Given the description of an element on the screen output the (x, y) to click on. 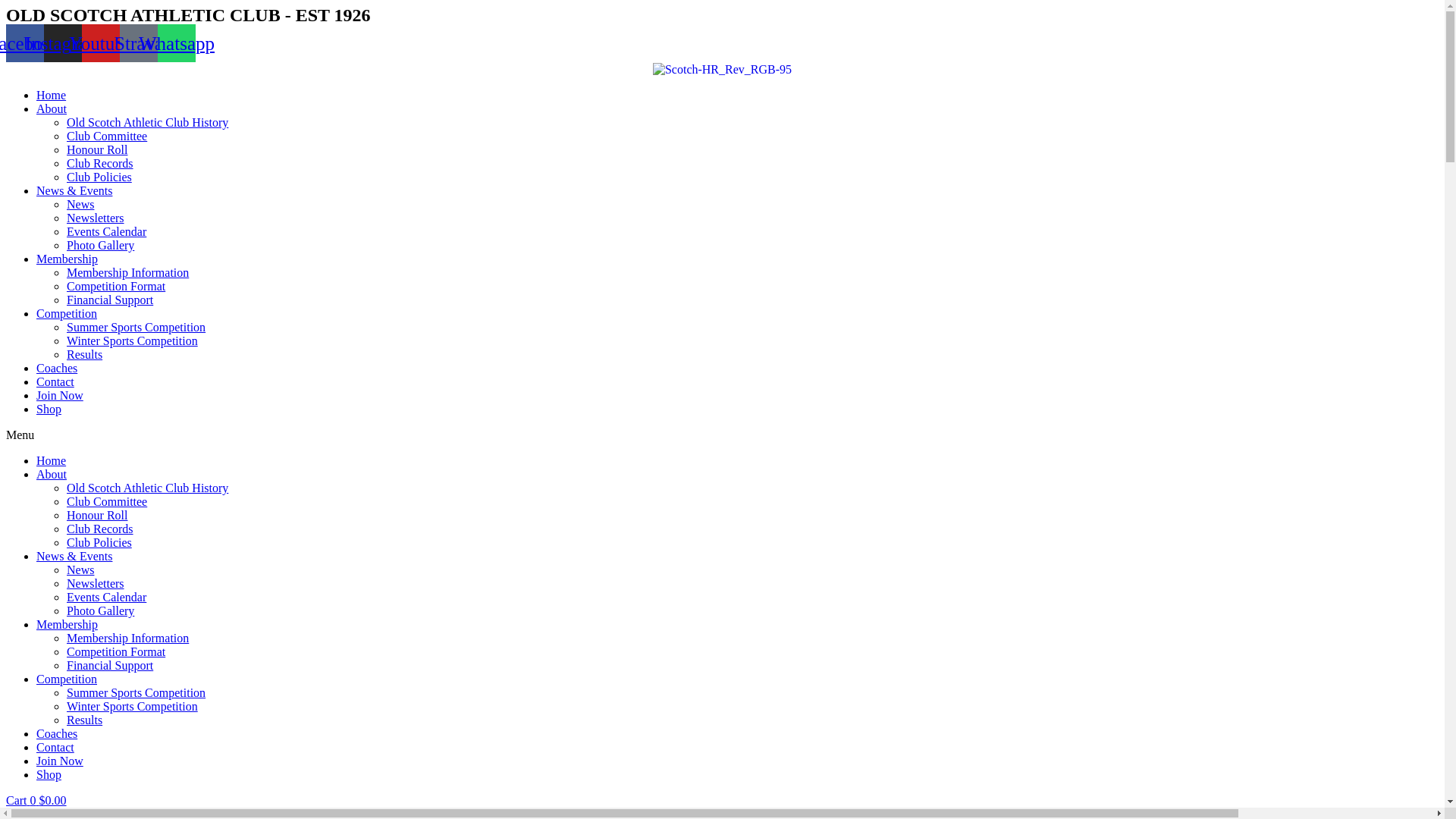
Coaches Element type: text (56, 733)
Photo Gallery Element type: text (100, 610)
Honour Roll Element type: text (96, 514)
Club Records Element type: text (99, 162)
Newsletters Element type: text (95, 217)
Summer Sports Competition Element type: text (135, 692)
Whatsapp Element type: text (176, 43)
Home Element type: text (50, 460)
News Element type: text (80, 569)
Strava Element type: text (138, 43)
Club Policies Element type: text (98, 176)
Skip to content Element type: text (5, 5)
Join Now Element type: text (59, 760)
Home Element type: text (50, 94)
Summer Sports Competition Element type: text (135, 326)
Contact Element type: text (55, 746)
Youtube Element type: text (100, 43)
Facebook Element type: text (24, 43)
Shop Element type: text (48, 774)
Photo Gallery Element type: text (100, 244)
Membership Element type: text (66, 258)
Club Committee Element type: text (106, 135)
About Element type: text (51, 108)
News & Events Element type: text (74, 555)
Club Committee Element type: text (106, 501)
Events Calendar Element type: text (106, 596)
Results Element type: text (84, 719)
Competition Format Element type: text (115, 285)
Membership Information Element type: text (127, 272)
Membership Element type: text (66, 624)
Competition Format Element type: text (115, 651)
Winter Sports Competition Element type: text (131, 705)
Shop Element type: text (48, 408)
Financial Support Element type: text (109, 664)
Honour Roll Element type: text (96, 149)
Club Policies Element type: text (98, 542)
Cart 0 $0.00 Element type: text (36, 799)
News & Events Element type: text (74, 190)
Old Scotch Athletic Club History Element type: text (147, 122)
Competition Element type: text (66, 313)
Winter Sports Competition Element type: text (131, 340)
Join Now Element type: text (59, 395)
Financial Support Element type: text (109, 299)
Membership Information Element type: text (127, 637)
Contact Element type: text (55, 381)
Competition Element type: text (66, 678)
Events Calendar Element type: text (106, 231)
Scotch-HR_Rev_RGB-95 Element type: hover (721, 69)
Club Records Element type: text (99, 528)
Results Element type: text (84, 354)
Instagram Element type: text (62, 43)
Coaches Element type: text (56, 367)
Old Scotch Athletic Club History Element type: text (147, 487)
News Element type: text (80, 203)
Newsletters Element type: text (95, 583)
About Element type: text (51, 473)
